Given the description of an element on the screen output the (x, y) to click on. 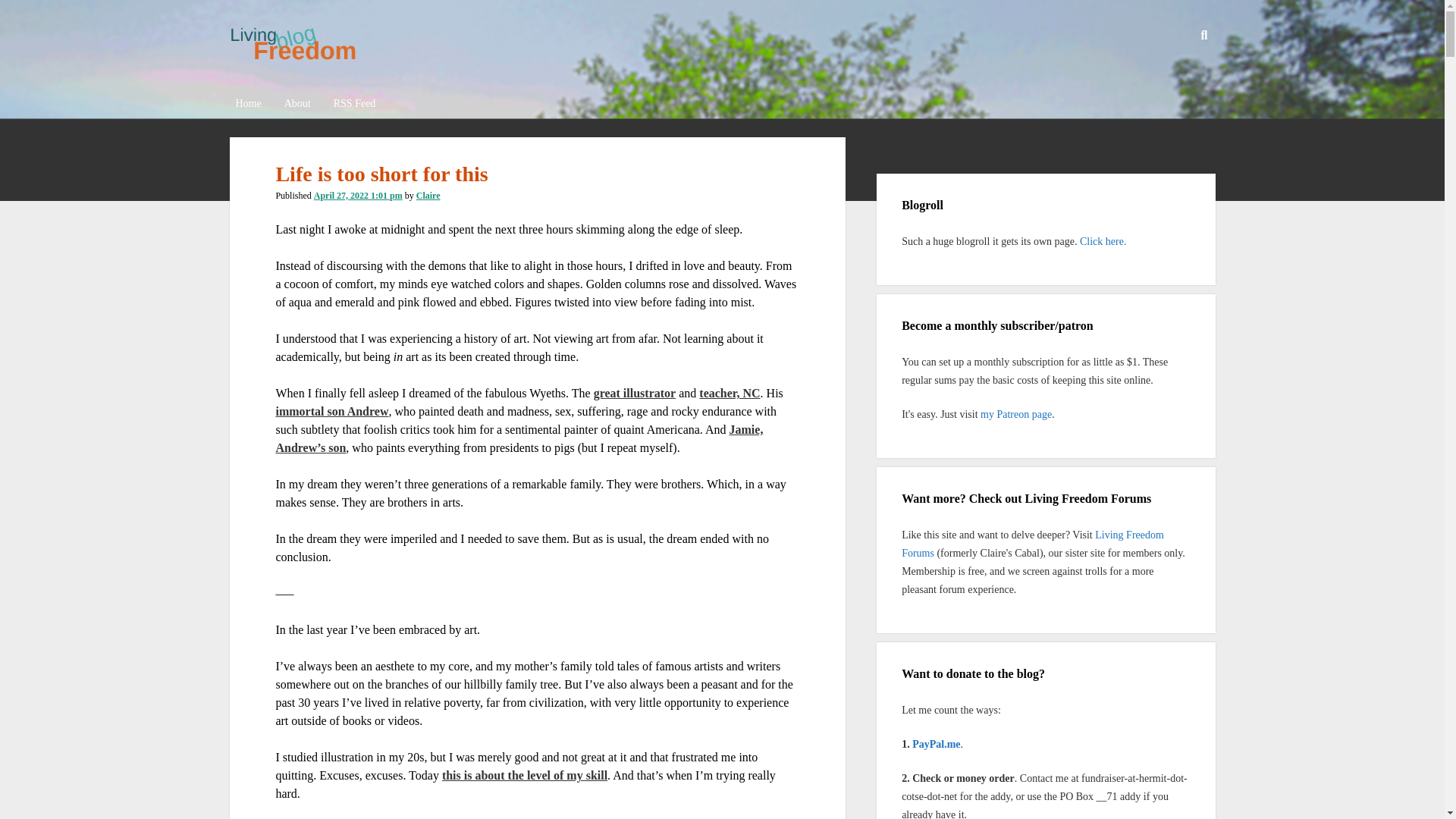
Home (247, 104)
Claire (428, 195)
April 27, 2022 1:01 pm (358, 195)
great illustrator (635, 392)
About (297, 104)
this is about the level of my skill (524, 775)
immortal son Andrew (331, 410)
RSS Feed (354, 104)
Living Freedom (292, 55)
teacher, NC (729, 392)
